Given the description of an element on the screen output the (x, y) to click on. 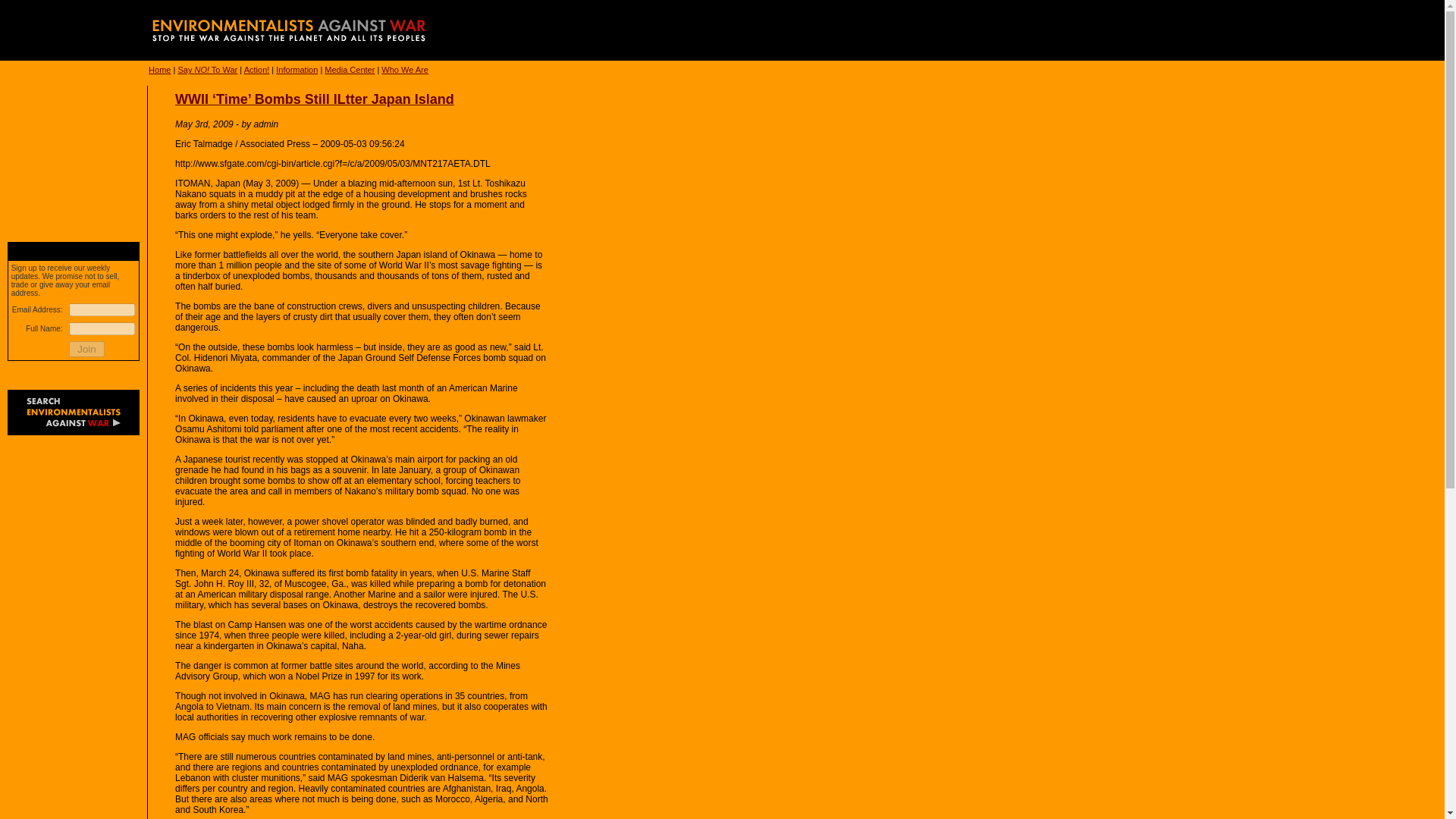
 Join  (86, 349)
Action! (256, 69)
 Join  (86, 349)
Information (296, 69)
Home (159, 69)
Say NO! To War (207, 69)
Media Center (349, 69)
Who We Are (404, 69)
